Given the description of an element on the screen output the (x, y) to click on. 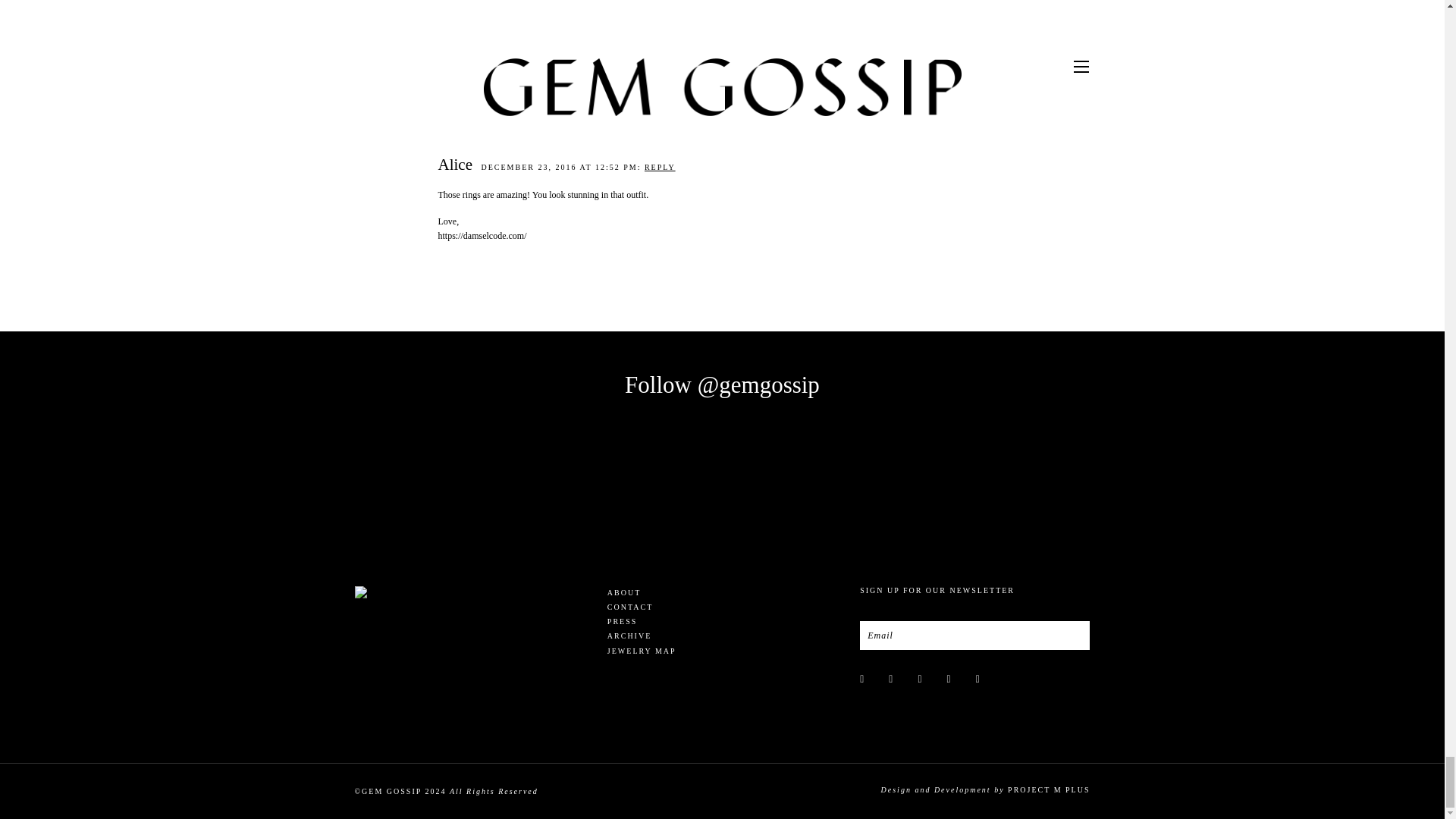
Submit (1075, 635)
Submit (958, 11)
